Given the description of an element on the screen output the (x, y) to click on. 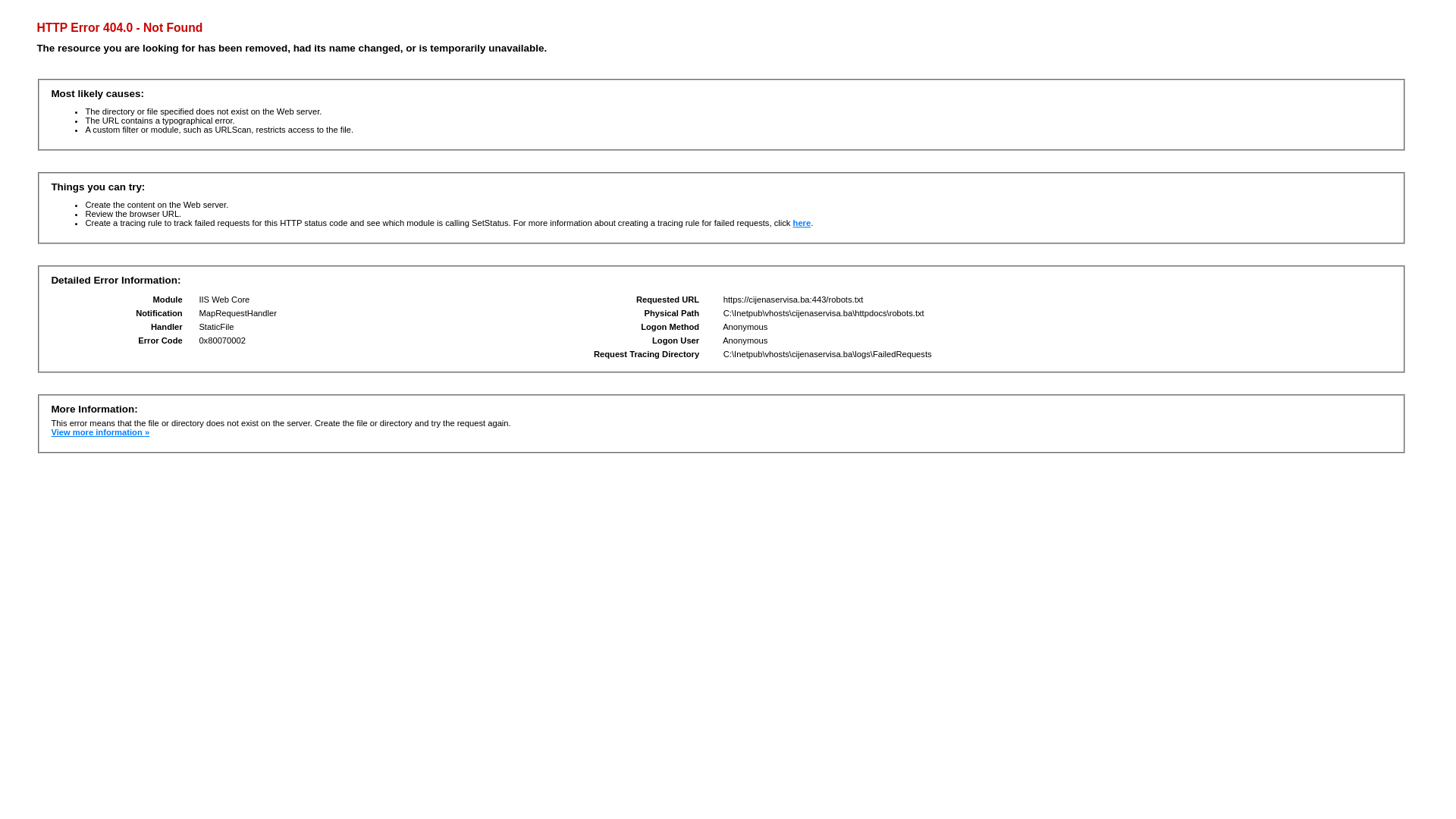
here Element type: text (802, 222)
